Given the description of an element on the screen output the (x, y) to click on. 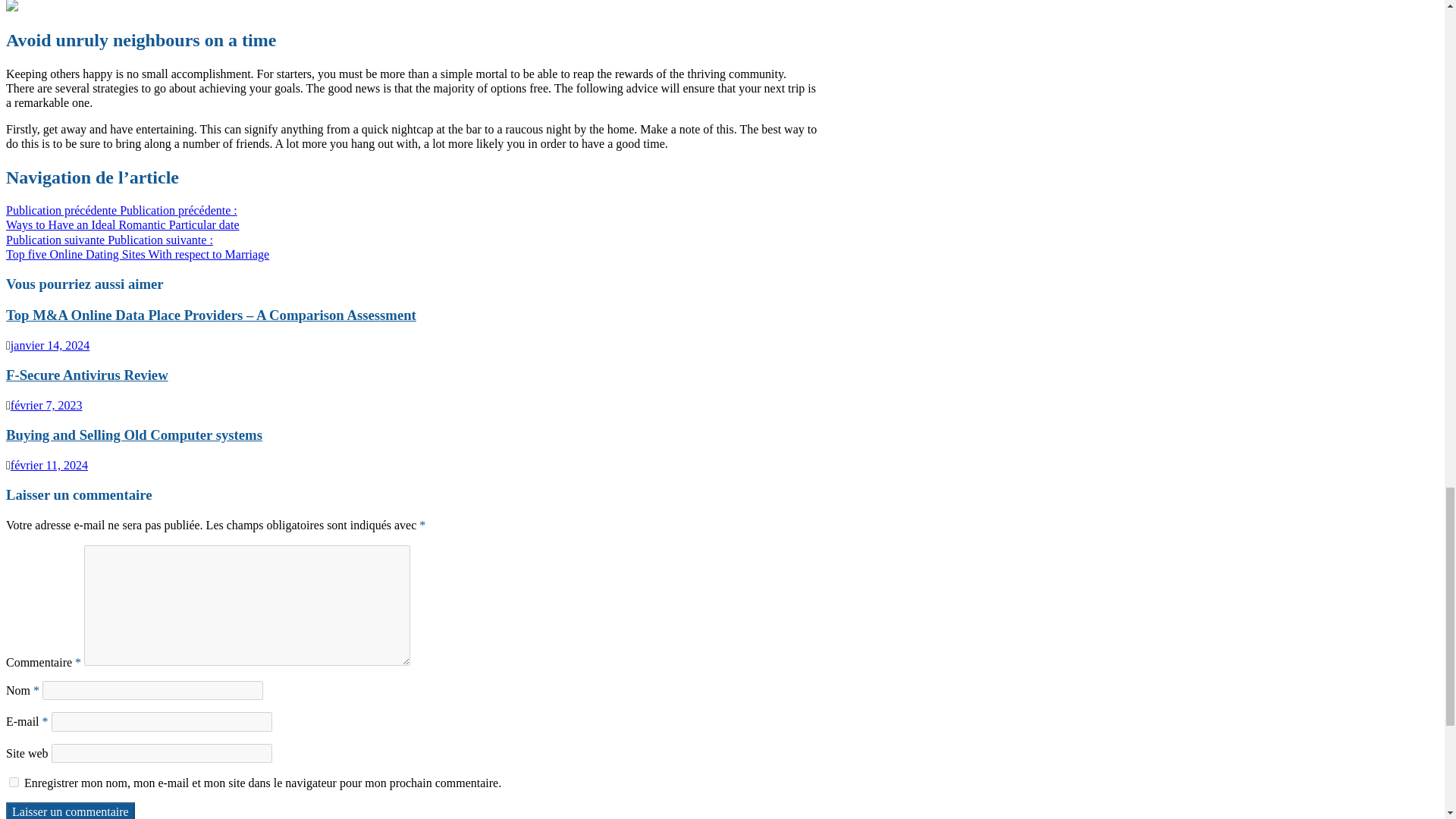
Laisser un commentaire (70, 810)
F-Secure Antivirus Review (86, 374)
yes (13, 782)
F-Secure Antivirus Review (86, 374)
Buying and Selling Old Computer systems (133, 434)
Laisser un commentaire (70, 810)
janvier 14, 2024 (49, 345)
Buying and Selling Old Computer systems (133, 434)
